Given the description of an element on the screen output the (x, y) to click on. 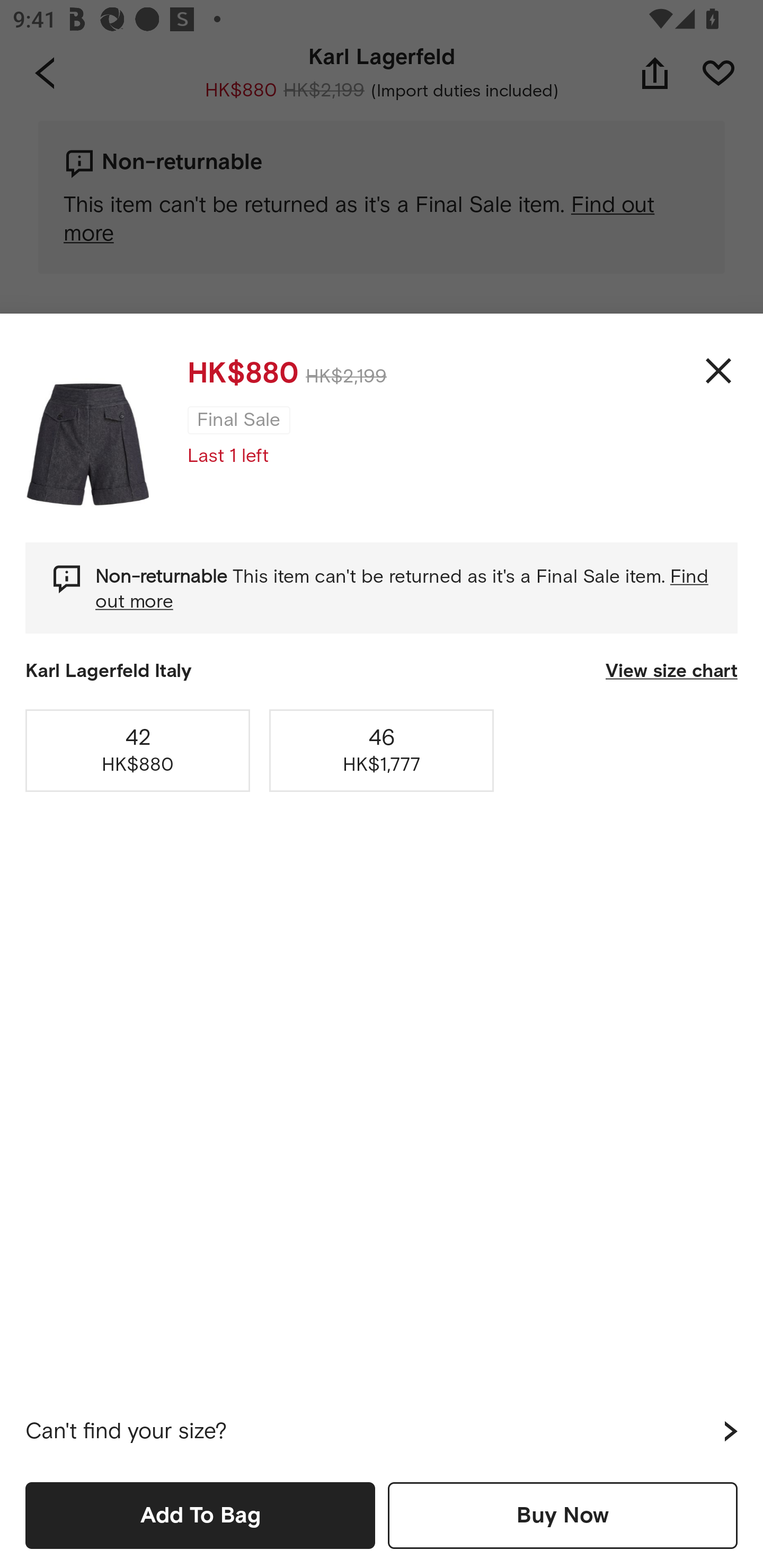
42 HK$880 (137, 749)
46 HK$1,777 (381, 749)
Can't find your size? (381, 1431)
Add To Bag (200, 1515)
Buy Now (562, 1515)
